Given the description of an element on the screen output the (x, y) to click on. 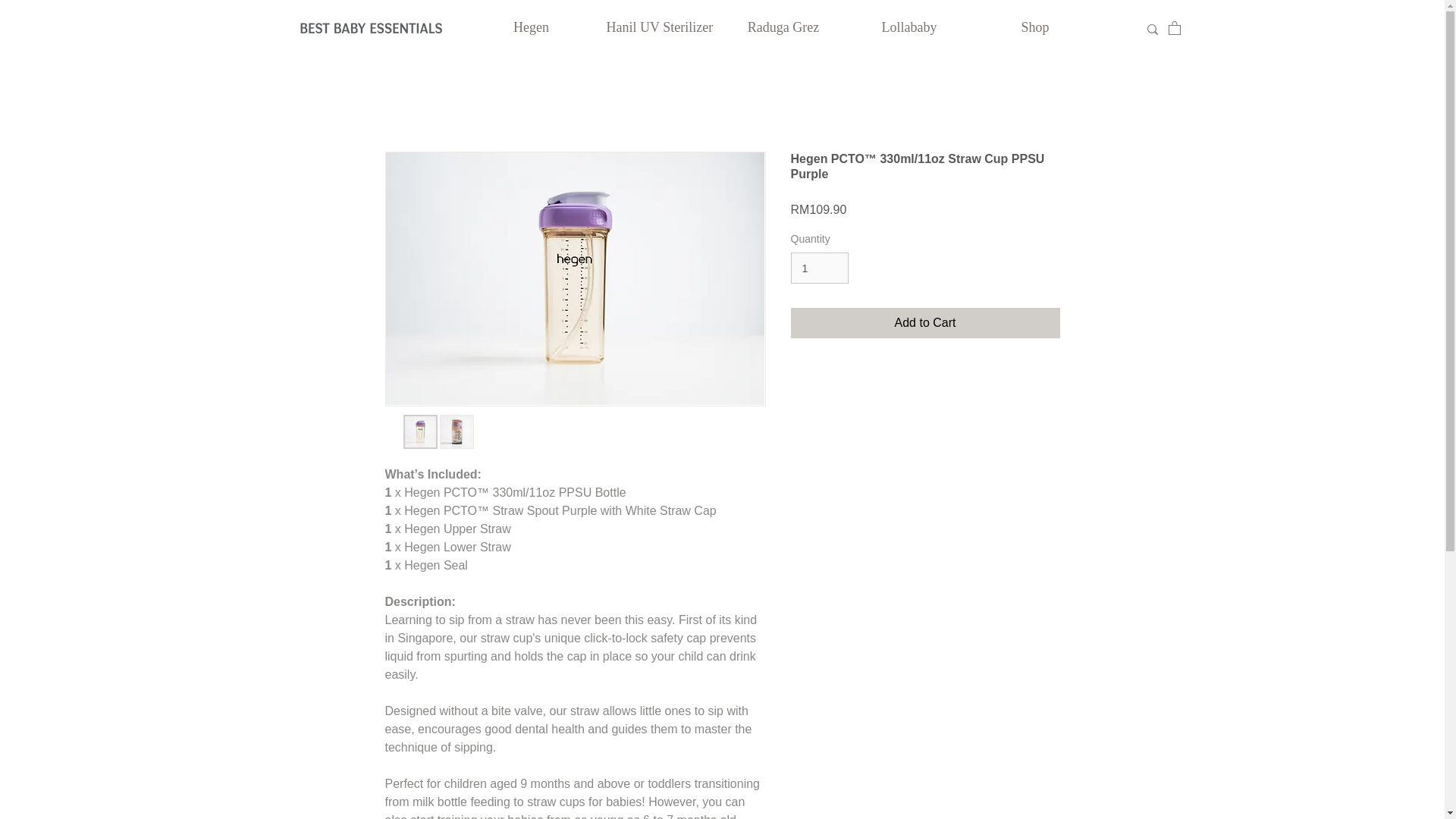
Shop (1034, 27)
1 (818, 267)
Lollababy (908, 27)
Raduga Grez (782, 27)
Add to Cart (924, 322)
Hanil UV Sterilizer (657, 27)
Hegen (531, 27)
